Given the description of an element on the screen output the (x, y) to click on. 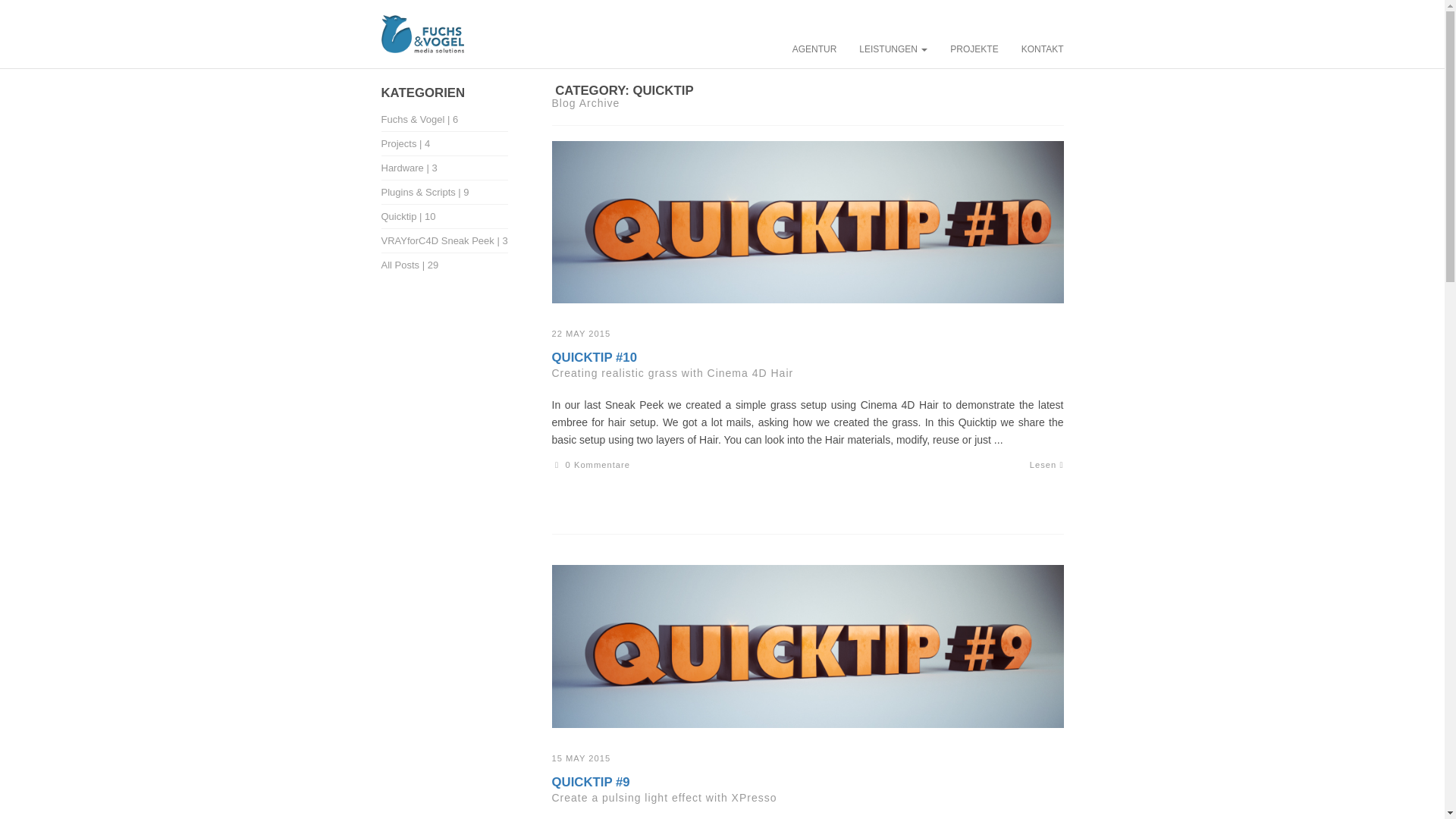
LEISTUNGEN (893, 48)
AGENTUR (814, 48)
PROJEKTE (974, 48)
Lesen (1046, 464)
0 Kommentare (590, 464)
KONTAKT (1042, 48)
